Given the description of an element on the screen output the (x, y) to click on. 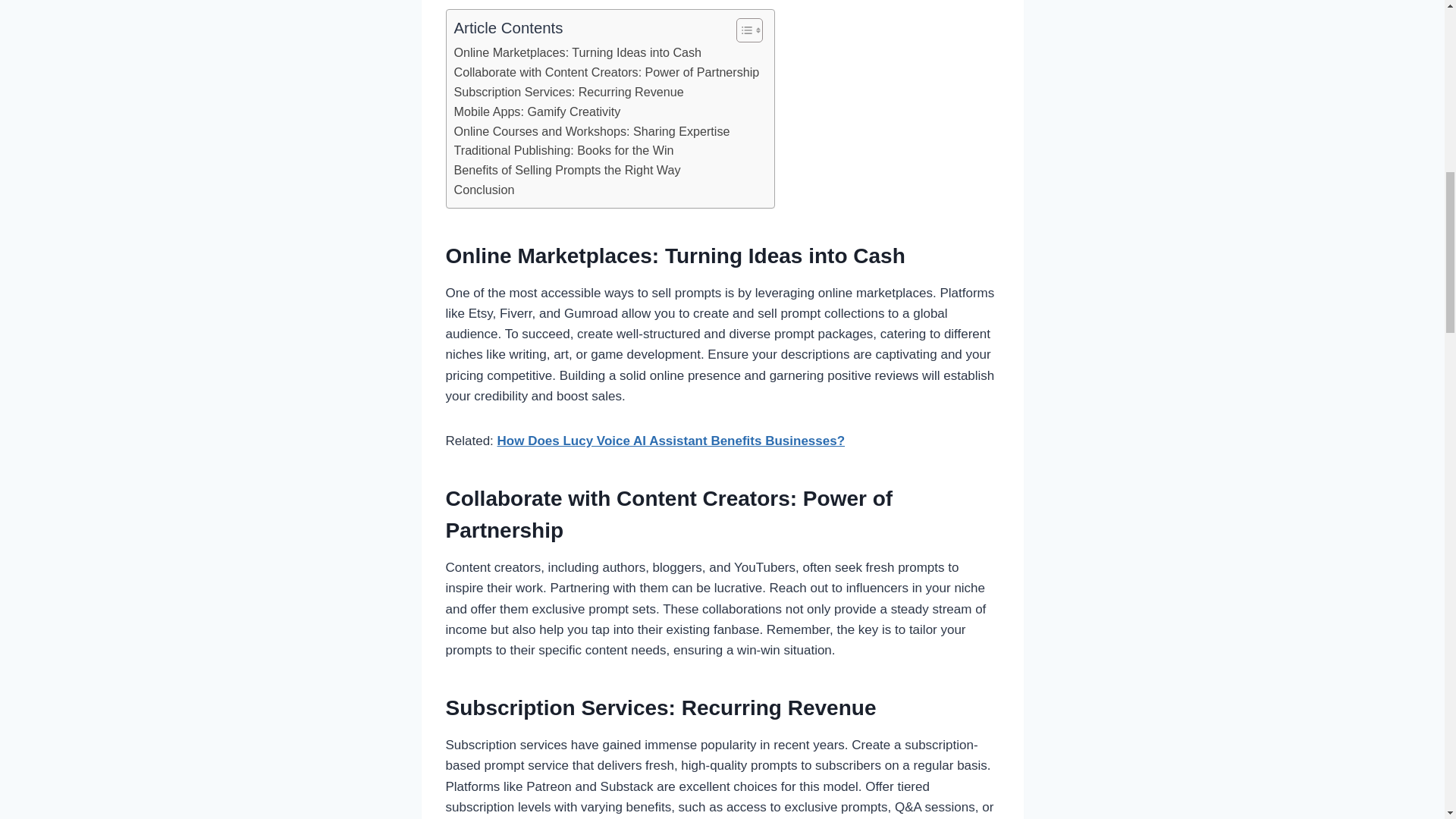
Subscription Services: Recurring Revenue (567, 92)
Conclusion (482, 189)
Online Marketplaces: Turning Ideas into Cash (576, 53)
Online Courses and Workshops: Sharing Expertise (590, 131)
Online Marketplaces: Turning Ideas into Cash (576, 53)
Mobile Apps: Gamify Creativity (536, 112)
Benefits of Selling Prompts the Right Way (565, 170)
Traditional Publishing: Books for the Win (562, 150)
Collaborate with Content Creators: Power of Partnership (605, 72)
Conclusion (482, 189)
